Given the description of an element on the screen output the (x, y) to click on. 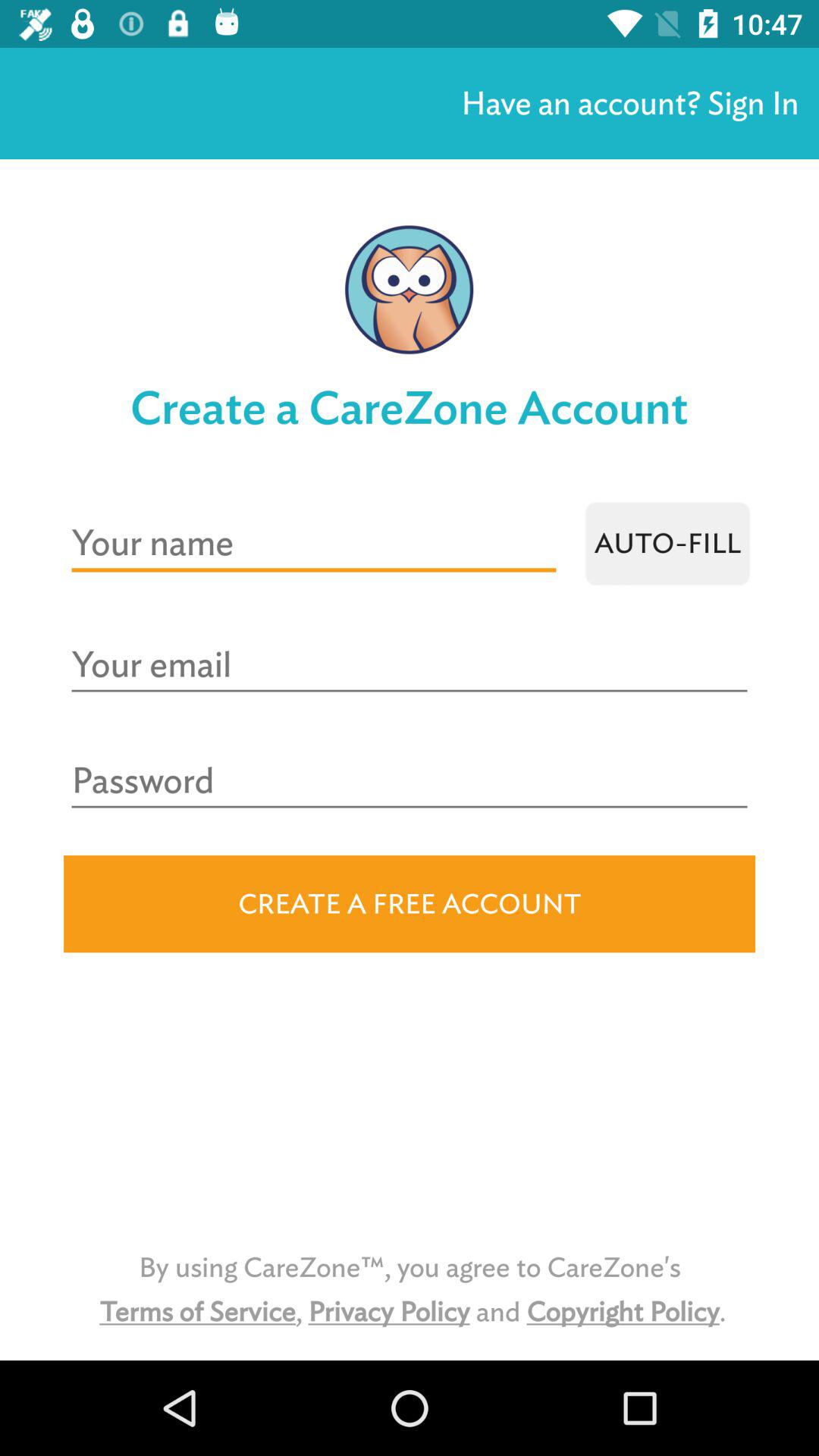
select by using carezone icon (409, 1289)
